Given the description of an element on the screen output the (x, y) to click on. 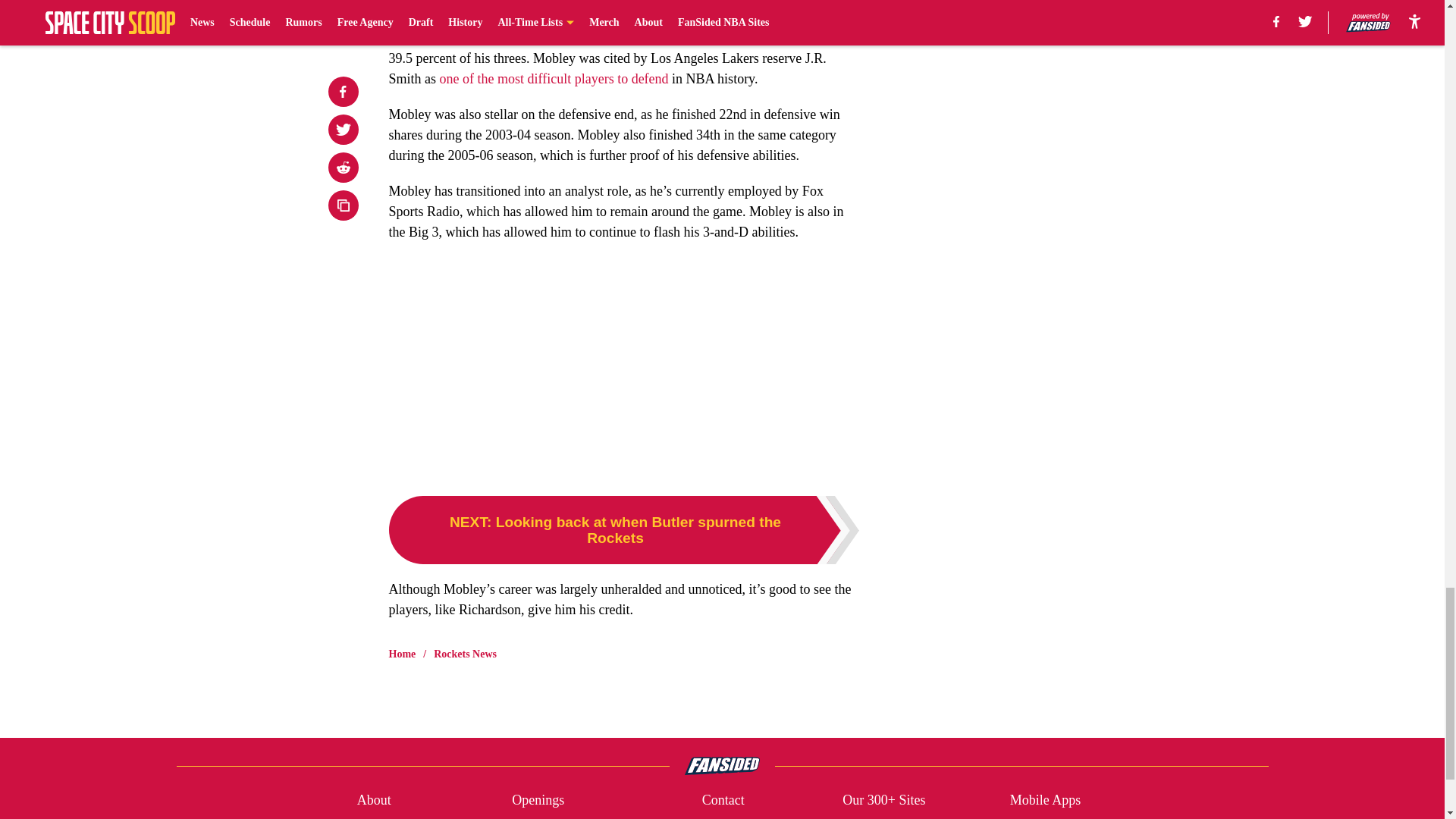
one of the most difficult players to defend (553, 78)
Home (401, 654)
About (373, 800)
Contact (722, 800)
NEXT: Looking back at when Butler spurned the Rockets (623, 530)
Openings (538, 800)
Rockets News (464, 654)
